Given the description of an element on the screen output the (x, y) to click on. 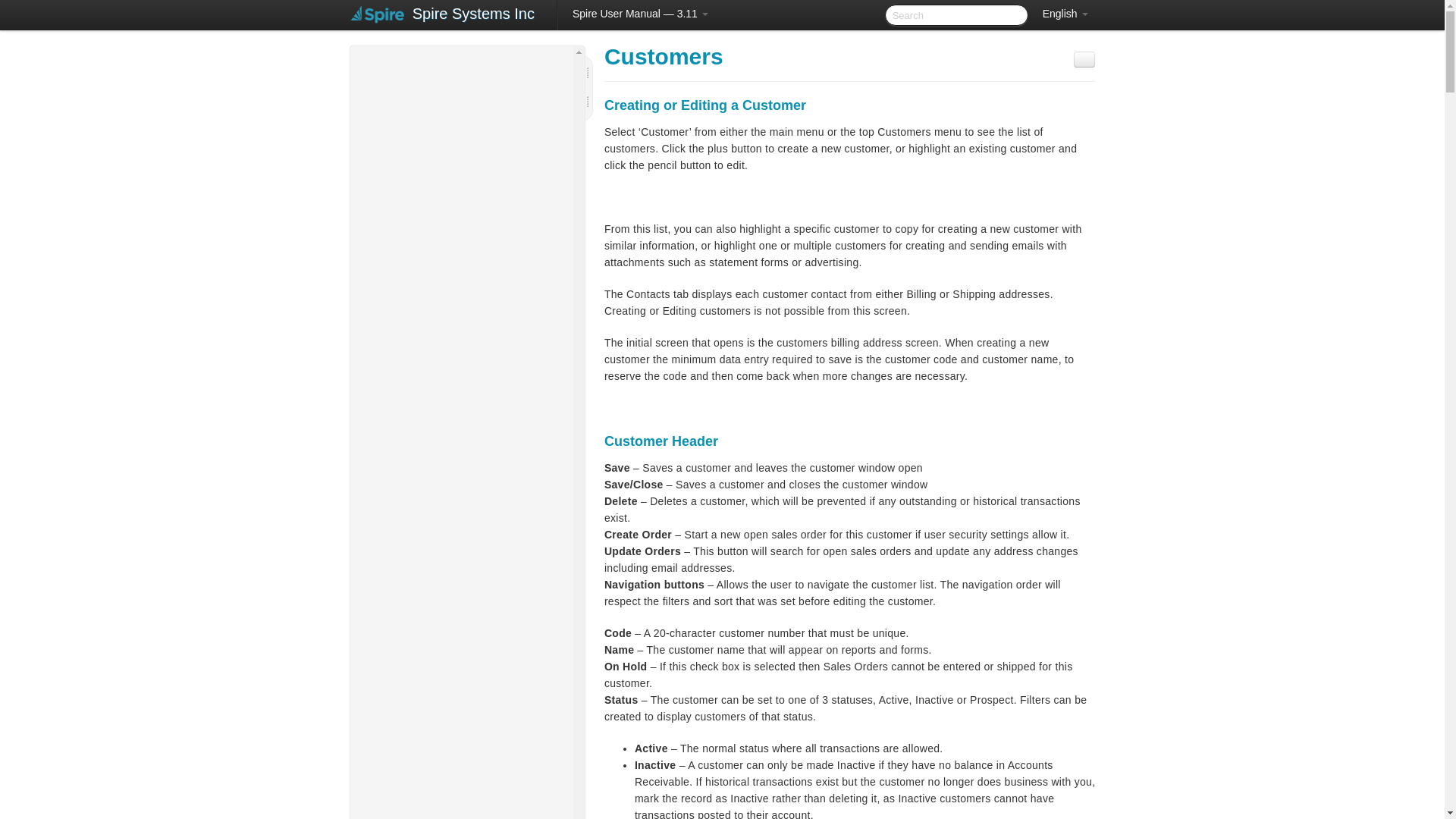
English (1065, 14)
Spire Systems Inc (473, 15)
Print page (1084, 59)
